Given the description of an element on the screen output the (x, y) to click on. 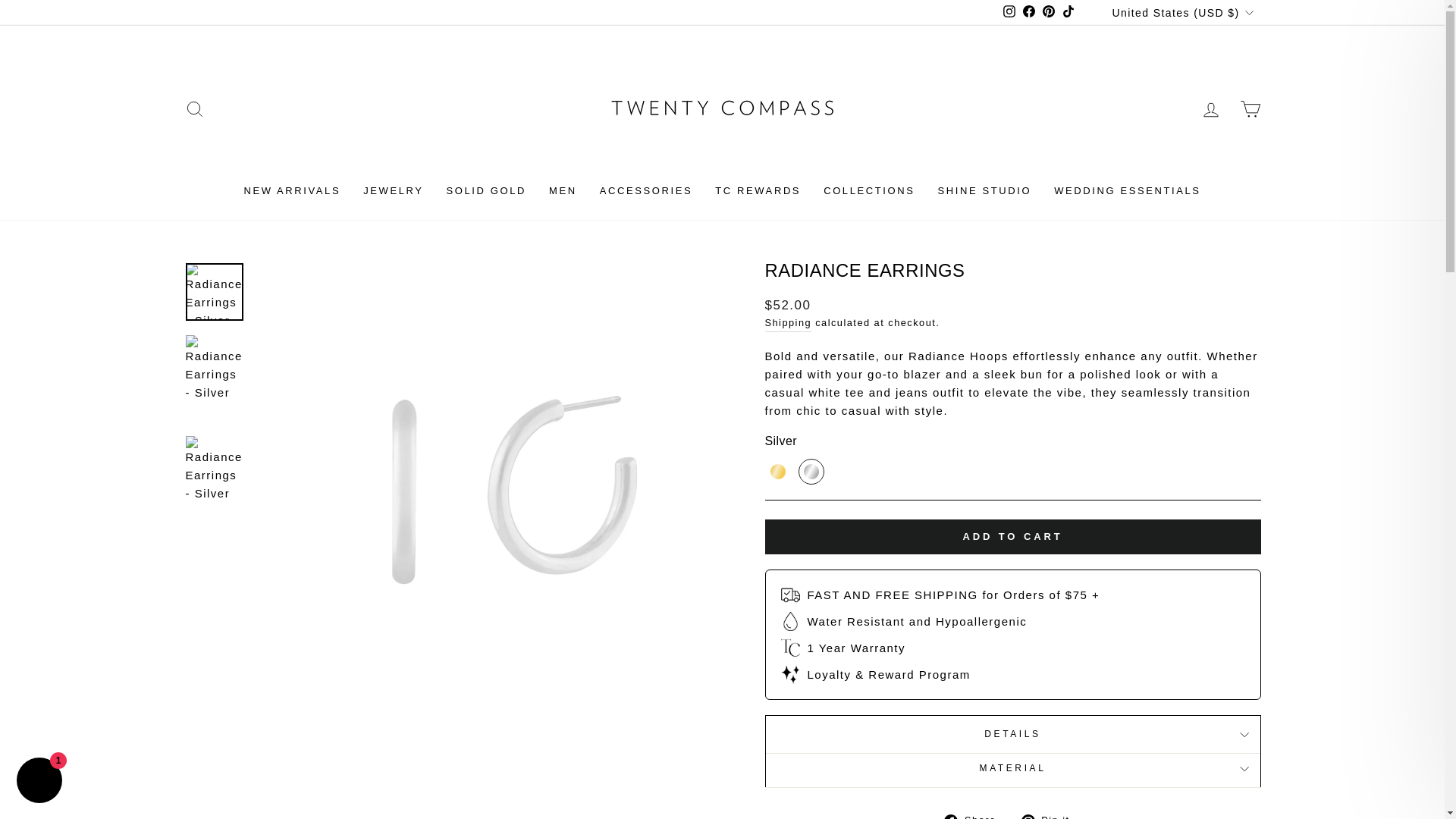
Pin on Pinterest (1051, 814)
Shopify online store chat (38, 781)
Share on Facebook (975, 814)
